Given the description of an element on the screen output the (x, y) to click on. 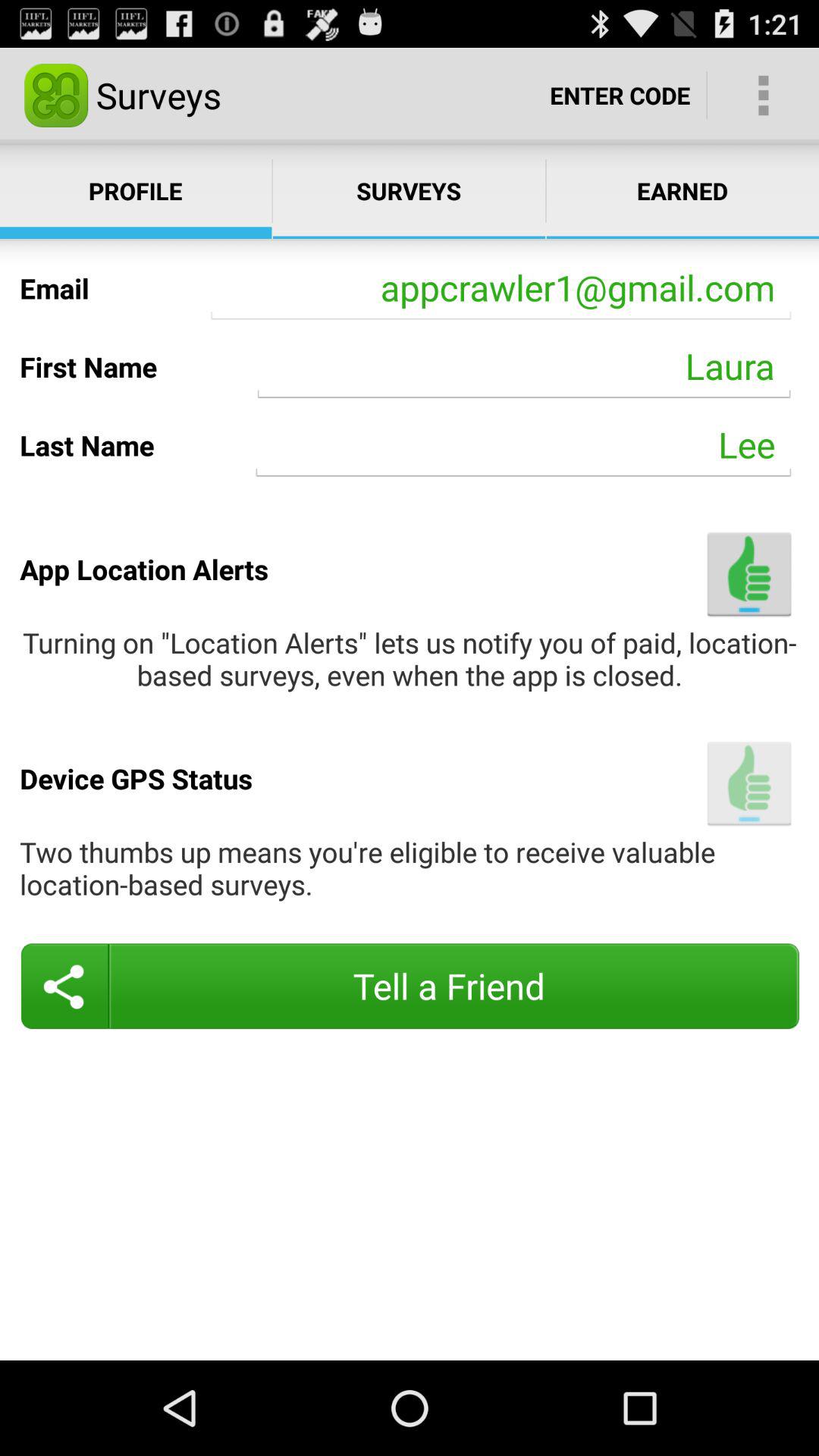
select icon below two thumbs up (409, 985)
